Given the description of an element on the screen output the (x, y) to click on. 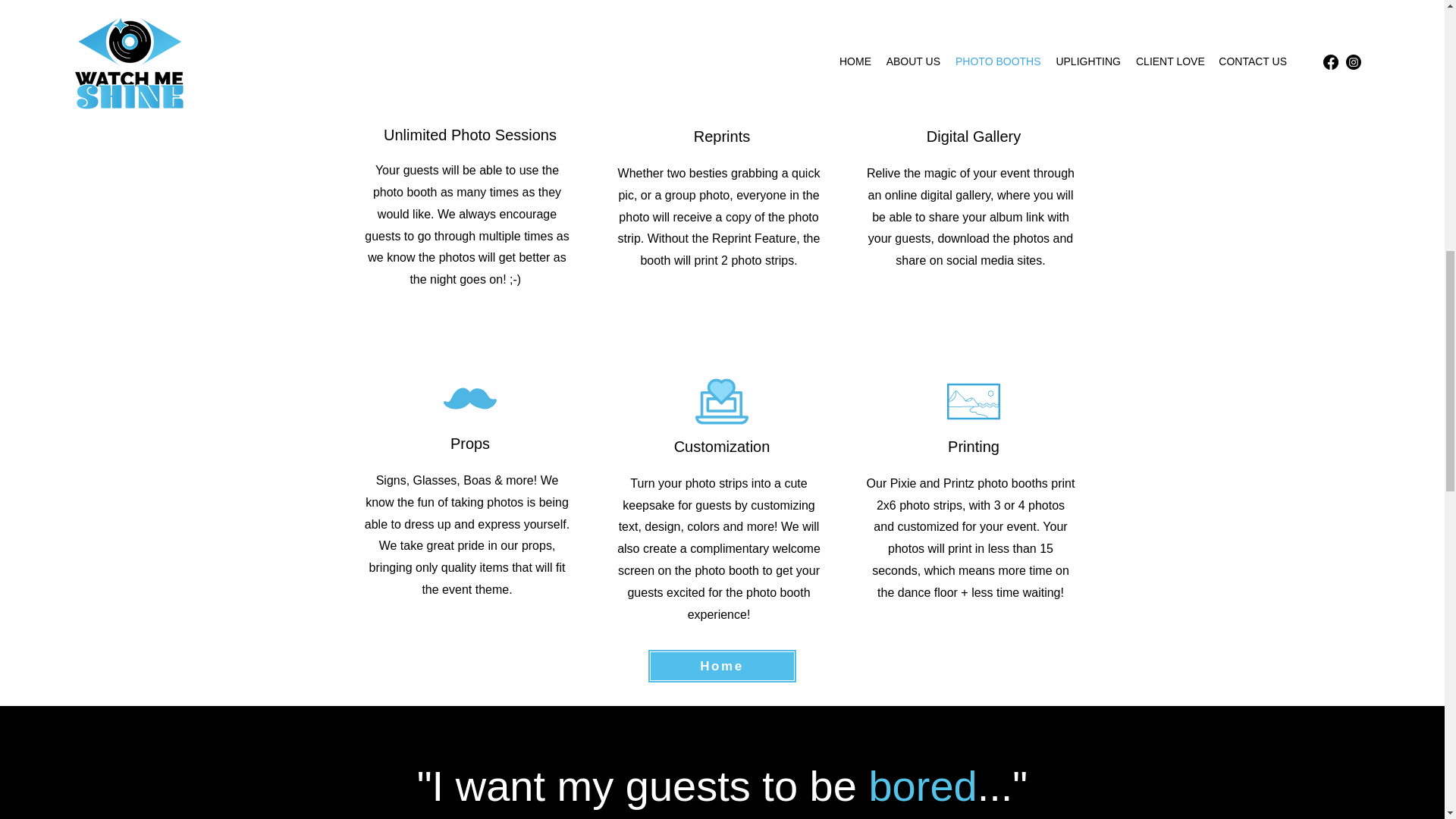
Home (721, 666)
